Given the description of an element on the screen output the (x, y) to click on. 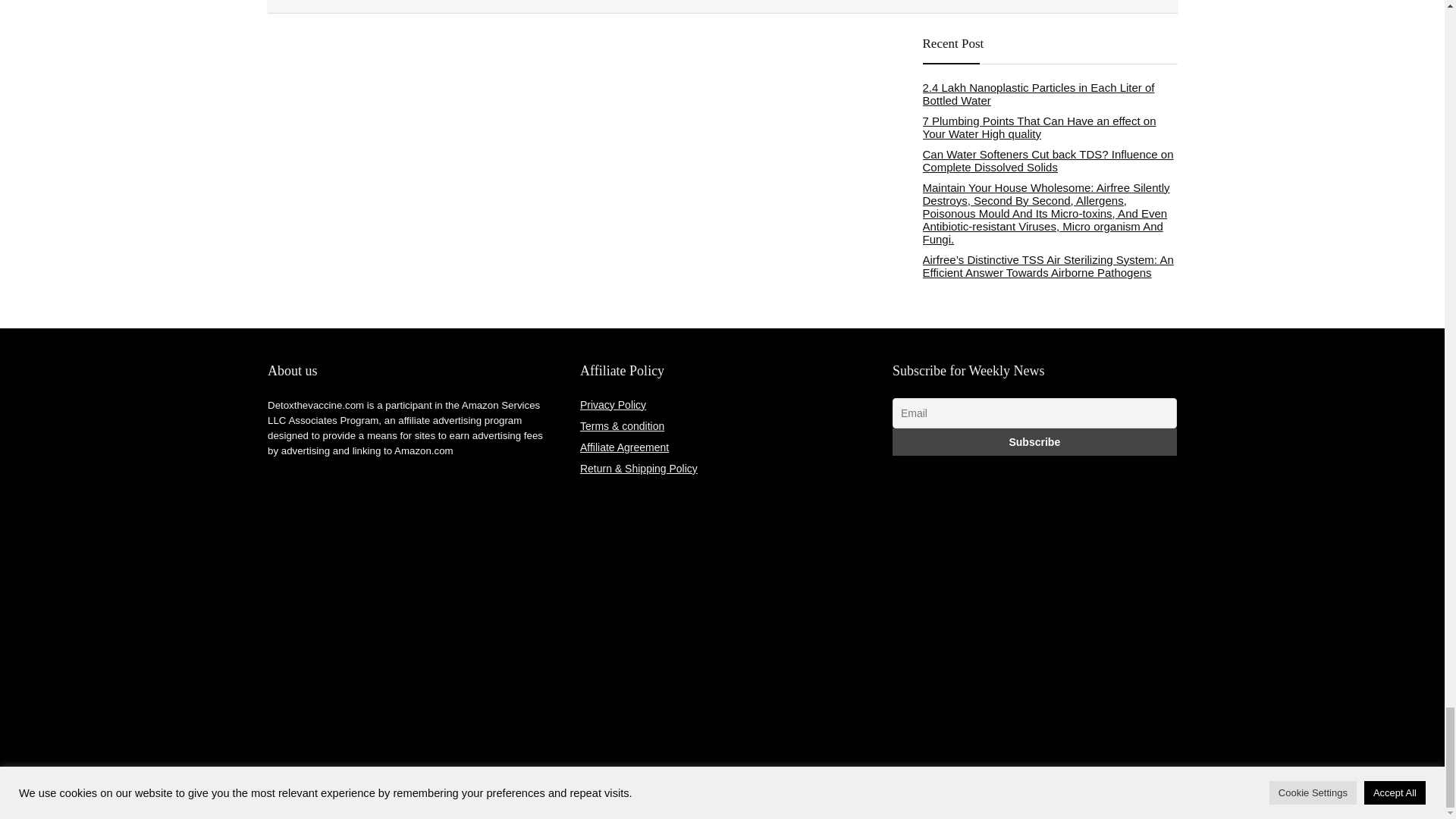
Subscribe (1034, 441)
